Given the description of an element on the screen output the (x, y) to click on. 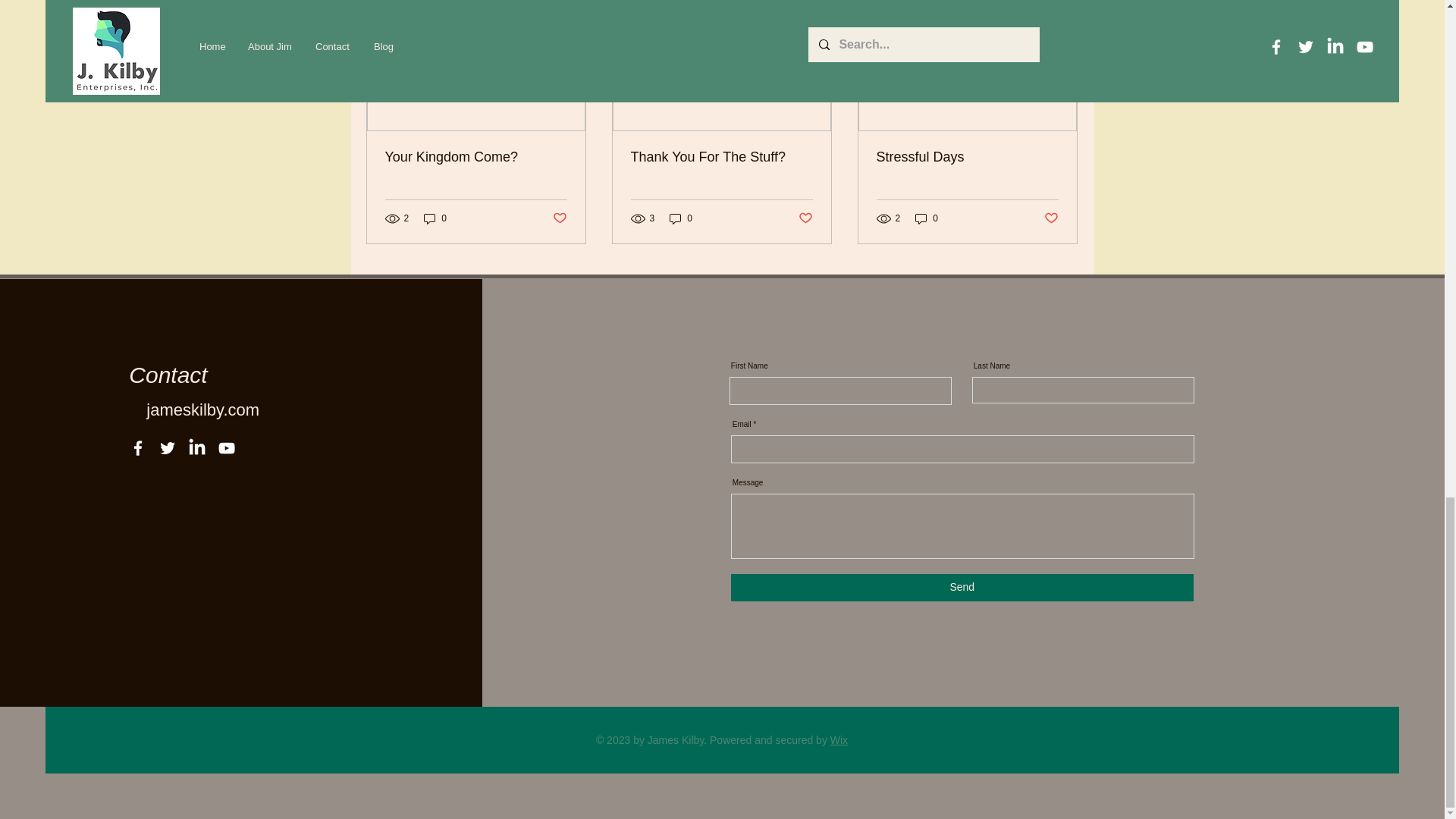
0 (435, 218)
Your Kingdom Come? (476, 157)
Post not marked as liked (558, 217)
Thank You For The Stuff? (721, 157)
0 (681, 218)
